Given the description of an element on the screen output the (x, y) to click on. 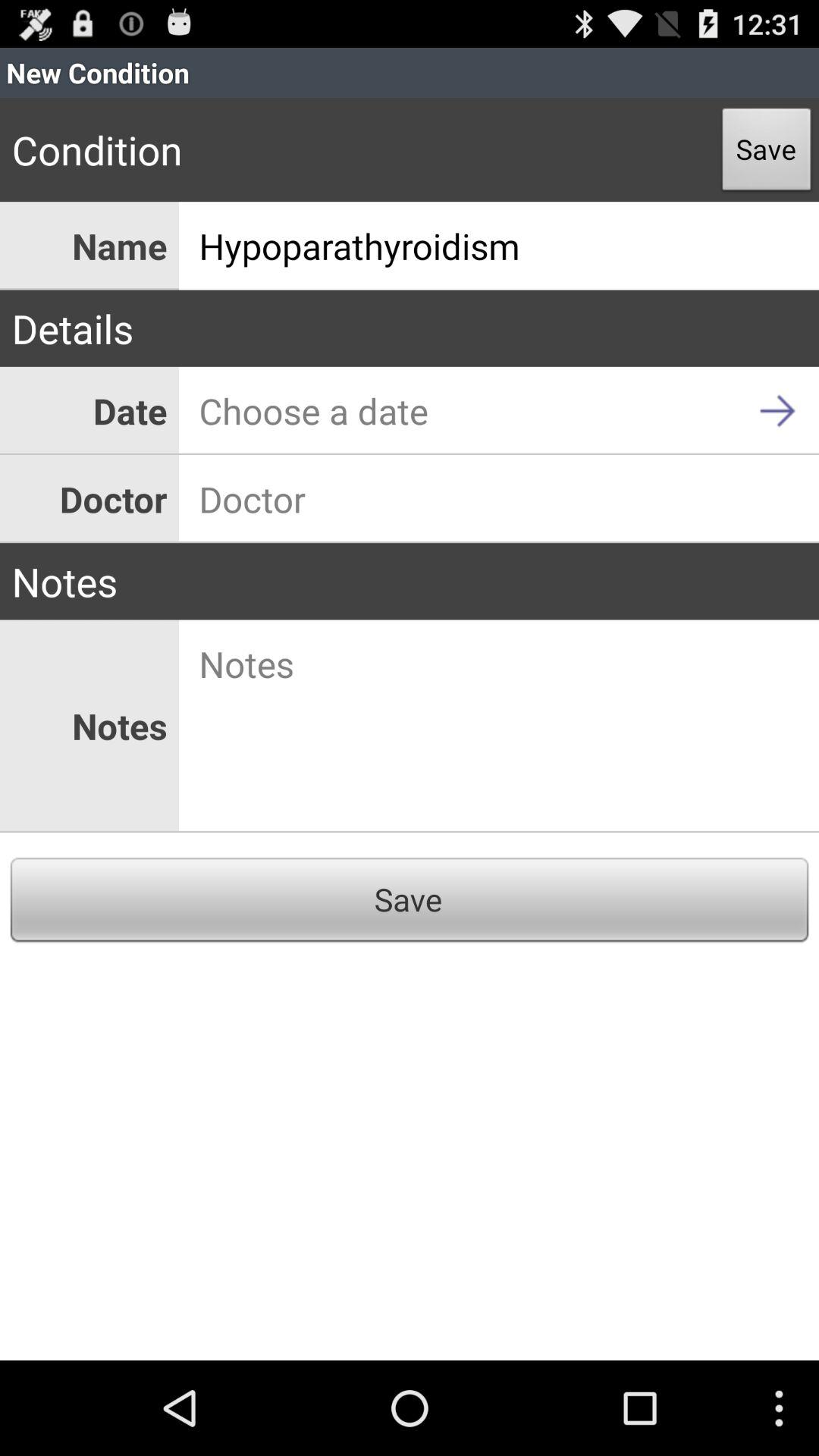
press app next to date (499, 410)
